Given the description of an element on the screen output the (x, y) to click on. 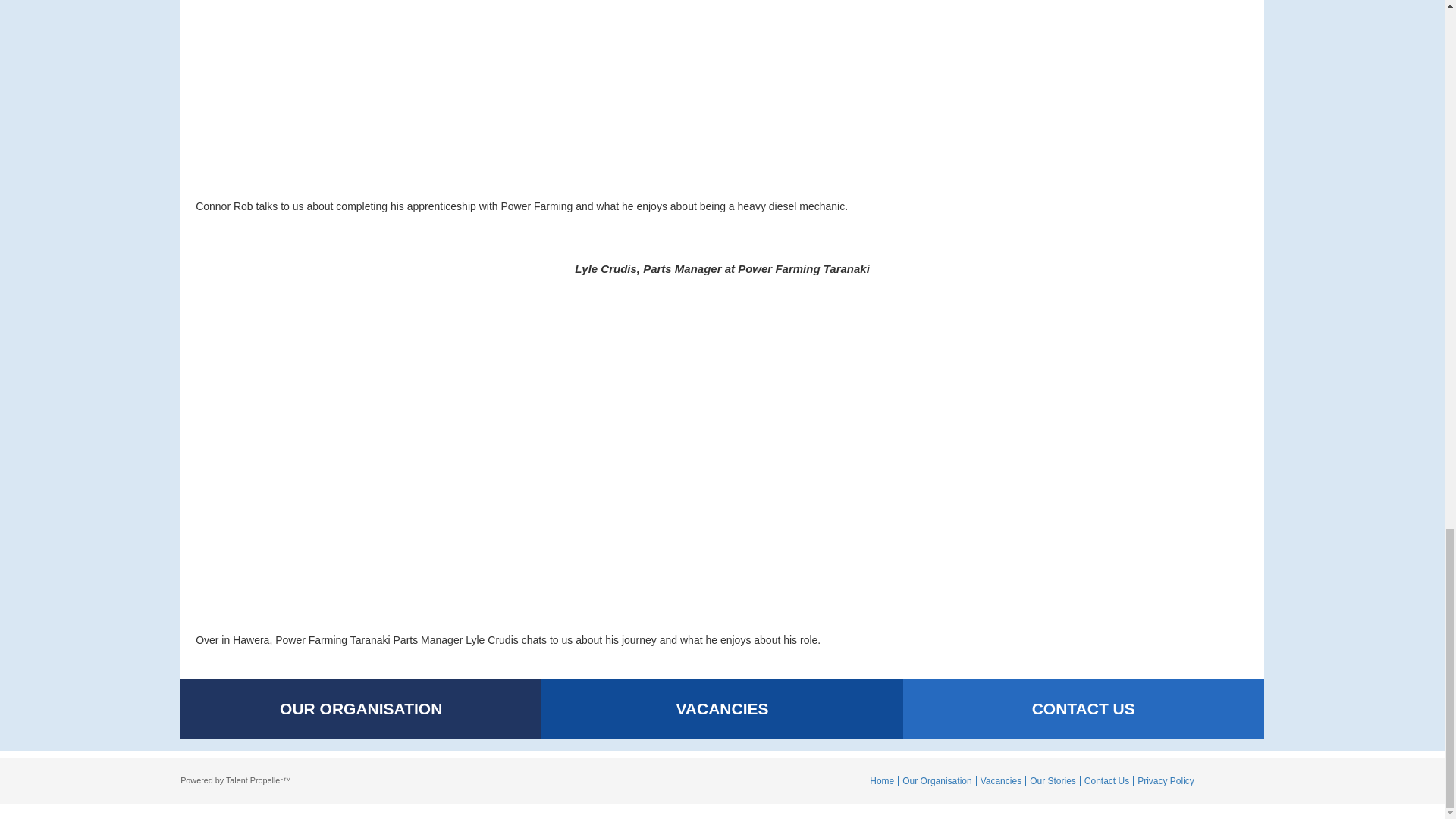
OUR ORGANISATION (360, 708)
Our Stories (1053, 780)
Power Farming Careers (235, 780)
Contact Us (1107, 780)
VACANCIES (722, 708)
Our Organisation (936, 780)
Vacancies (1001, 780)
CONTACT US (1083, 708)
Home (882, 780)
Privacy Policy (1166, 780)
